Given the description of an element on the screen output the (x, y) to click on. 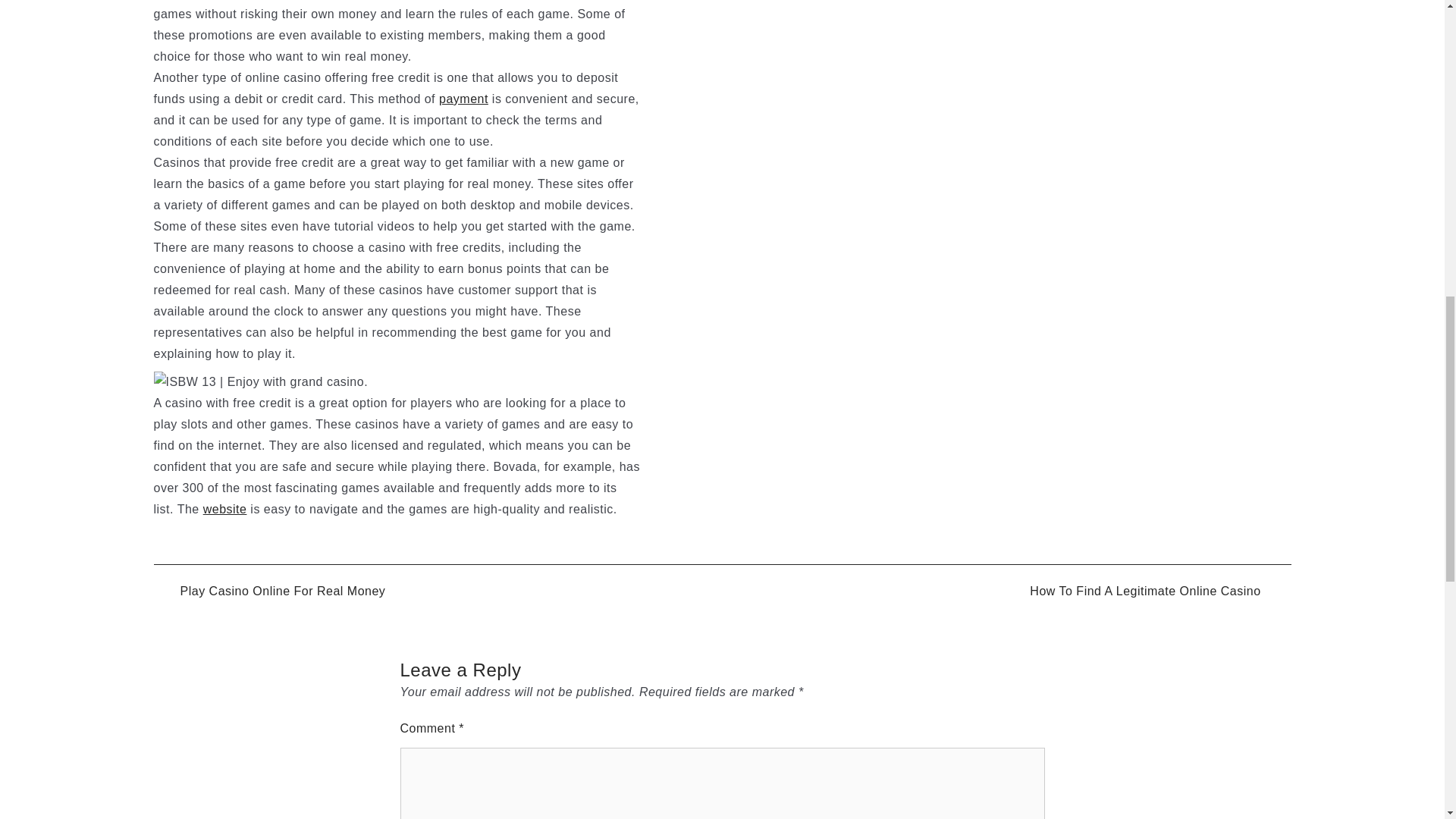
How To Find A Legitimate Online Casino  (1159, 590)
Play Casino Online For Real Money (268, 590)
website (225, 508)
payment (463, 98)
